Given the description of an element on the screen output the (x, y) to click on. 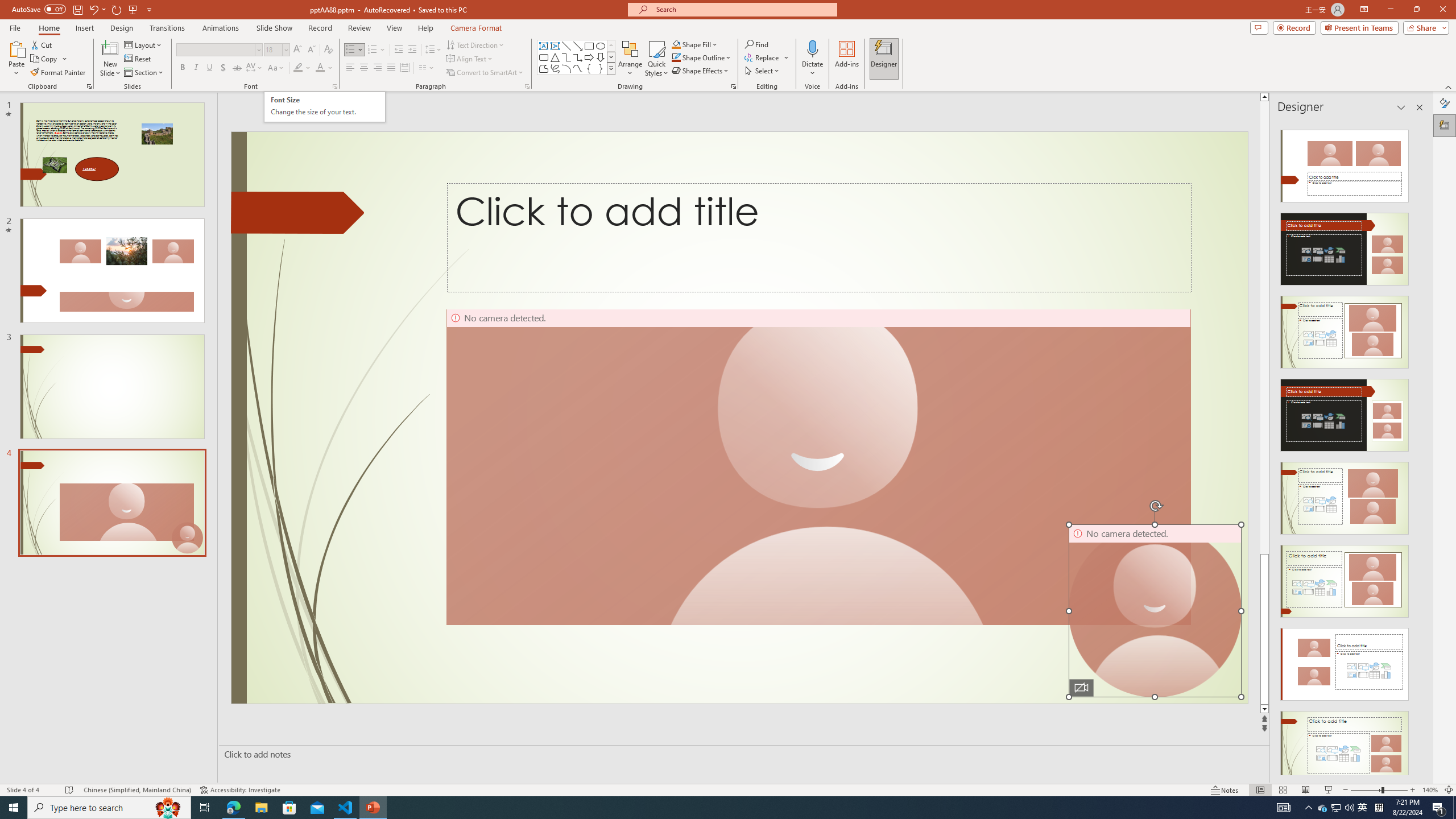
Zoom 140% (1430, 790)
Camera 3, No camera detected. (818, 466)
Camera 4, No camera detected. (1154, 610)
